Given the description of an element on the screen output the (x, y) to click on. 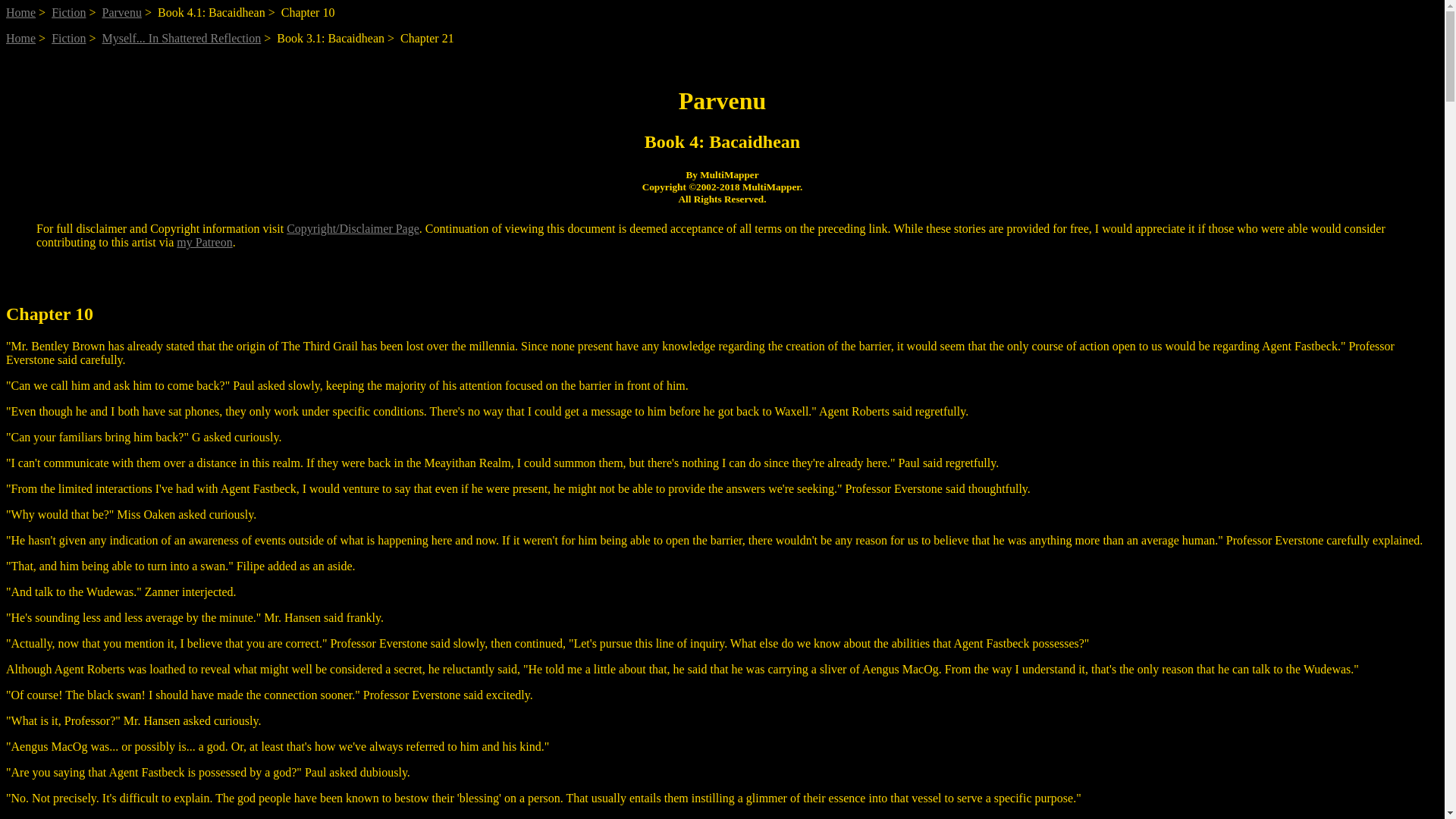
my Patreon (203, 241)
Home (19, 38)
Fiction (67, 38)
Parvenu (121, 11)
Home (19, 11)
Fiction (67, 11)
Myself... In Shattered Reflection (181, 38)
